Given the description of an element on the screen output the (x, y) to click on. 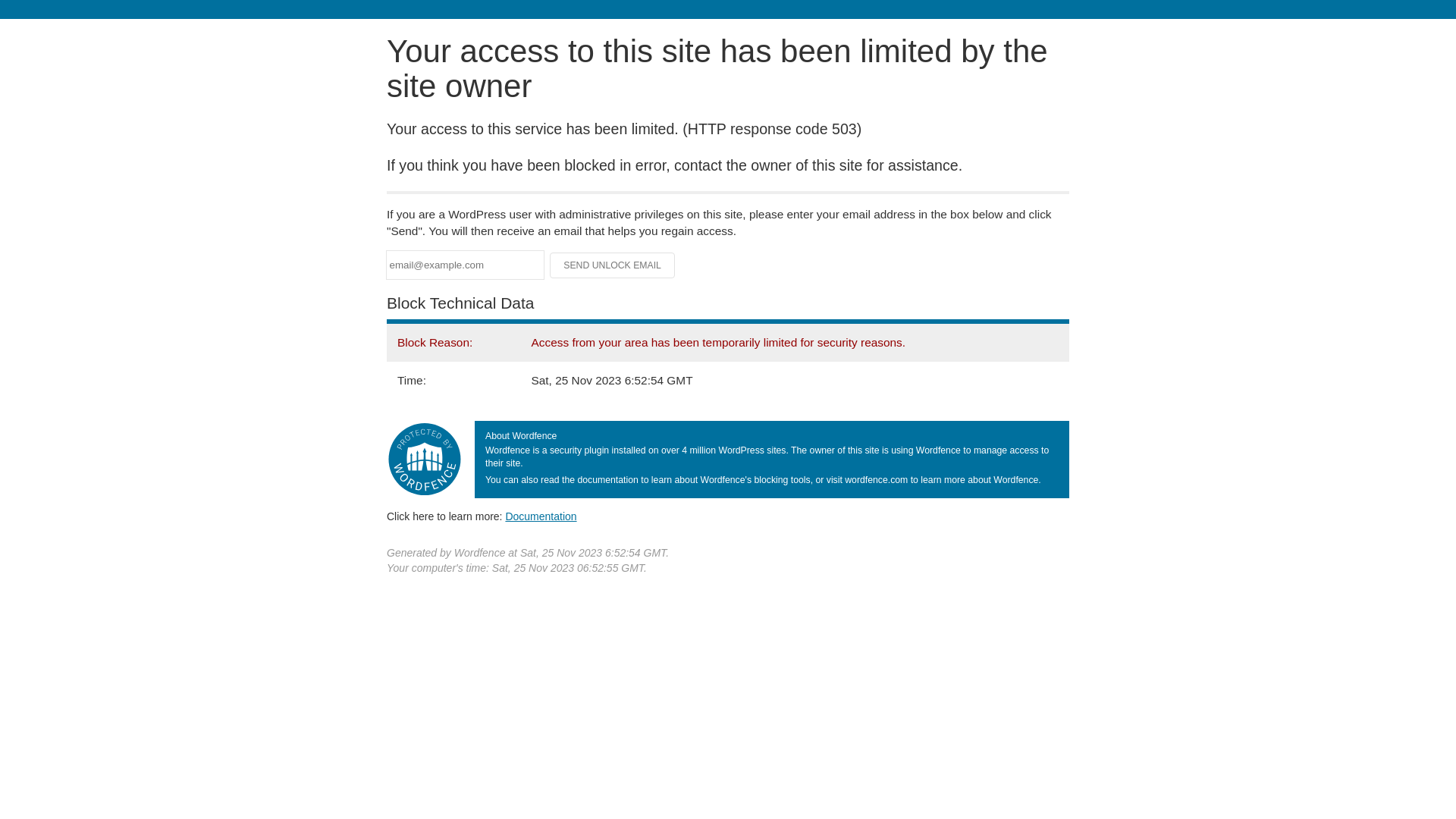
Documentation Element type: text (540, 516)
Send Unlock Email Element type: text (612, 265)
